Given the description of an element on the screen output the (x, y) to click on. 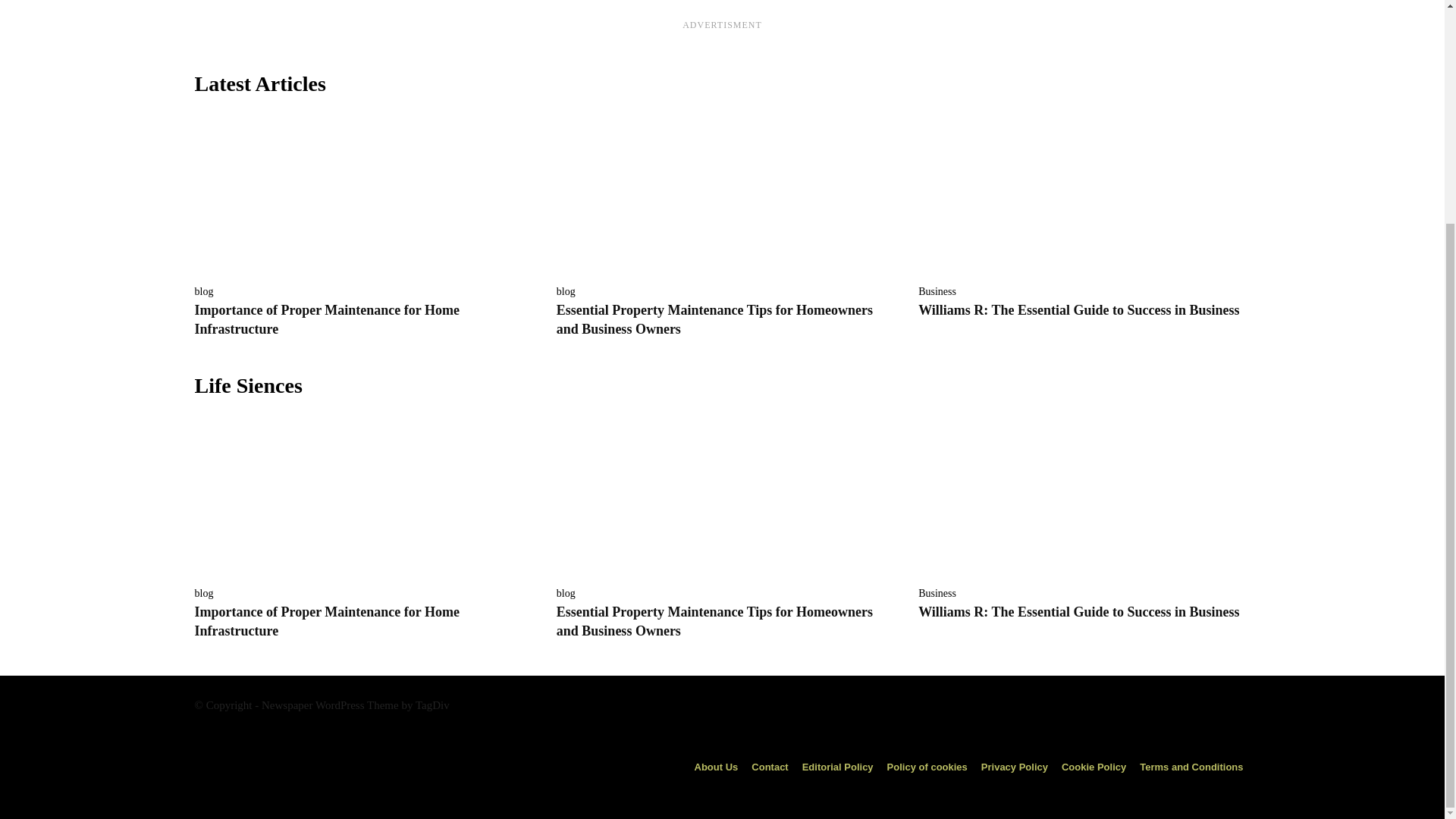
Williams R: The Essential Guide to Success in Business (1083, 495)
Williams R: The Essential Guide to Success in Business (1083, 193)
Importance of Proper Maintenance for Home Infrastructure (359, 193)
blog (202, 291)
Importance of Proper Maintenance for Home Infrastructure (359, 495)
Williams R: The Essential Guide to Success in Business (1078, 309)
Importance of Proper Maintenance for Home Infrastructure (325, 621)
Williams R: The Essential Guide to Success in Business (1078, 611)
Importance of Proper Maintenance for Home Infrastructure (325, 319)
Importance of Proper Maintenance for Home Infrastructure (325, 319)
